Given the description of an element on the screen output the (x, y) to click on. 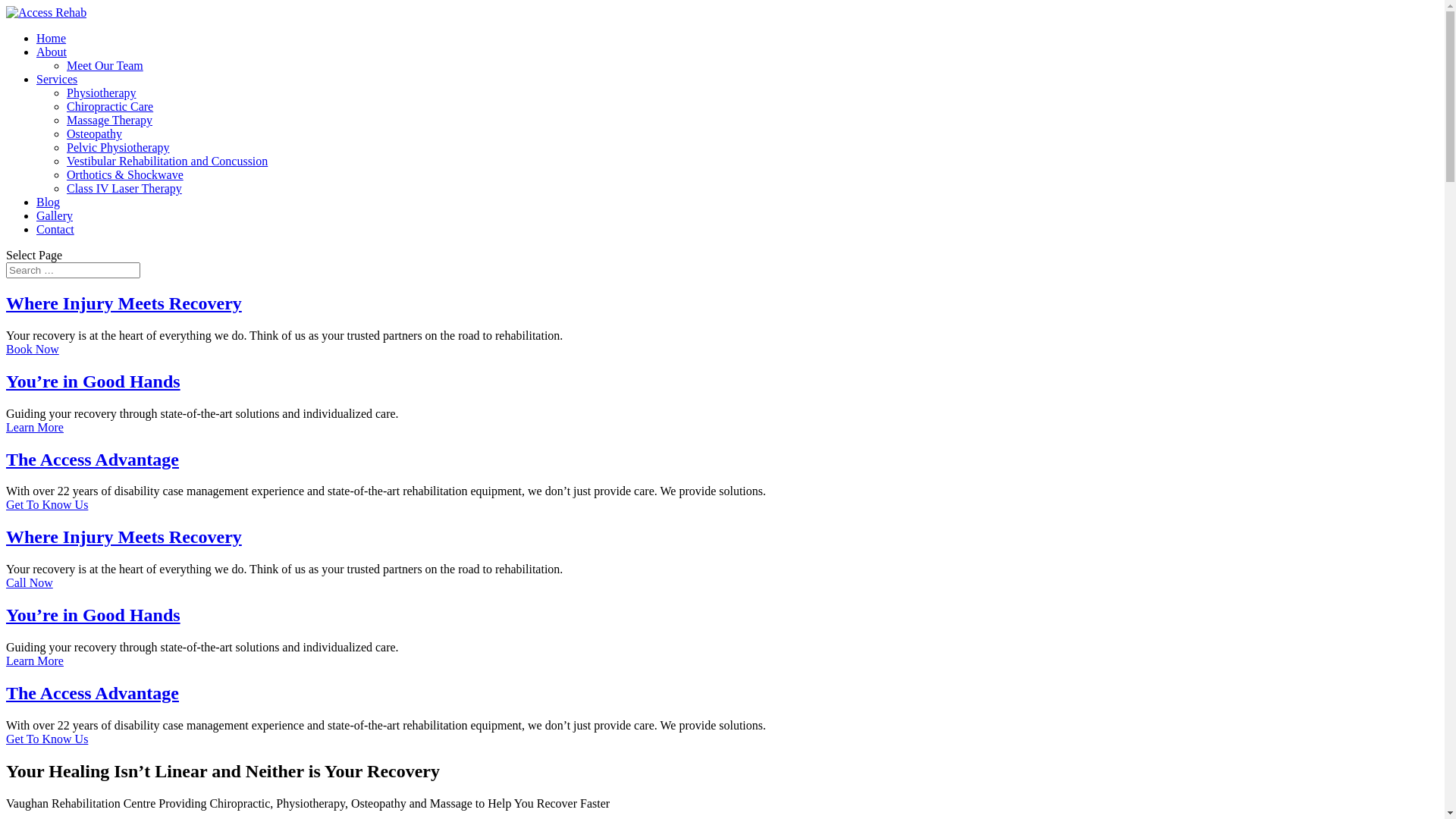
Call Now Element type: text (29, 582)
Blog Element type: text (47, 201)
Get To Know Us Element type: text (46, 738)
Class IV Laser Therapy Element type: text (124, 188)
The Access Advantage Element type: text (92, 692)
Home Element type: text (50, 37)
Get To Know Us Element type: text (46, 504)
Learn More Element type: text (34, 426)
Orthotics & Shockwave Element type: text (124, 174)
Physiotherapy Element type: text (101, 92)
Where Injury Meets Recovery Element type: text (123, 303)
Pelvic Physiotherapy Element type: text (117, 147)
Meet Our Team Element type: text (104, 65)
The Access Advantage Element type: text (92, 459)
Contact Element type: text (55, 228)
Chiropractic Care Element type: text (109, 106)
About Element type: text (51, 51)
Massage Therapy Element type: text (109, 119)
Where Injury Meets Recovery Element type: text (123, 536)
Learn More Element type: text (34, 660)
Osteopathy Element type: text (94, 133)
Book Now Element type: text (32, 348)
Services Element type: text (56, 78)
Gallery Element type: text (54, 215)
Vestibular Rehabilitation and Concussion Element type: text (166, 160)
Search for: Element type: hover (73, 270)
